Given the description of an element on the screen output the (x, y) to click on. 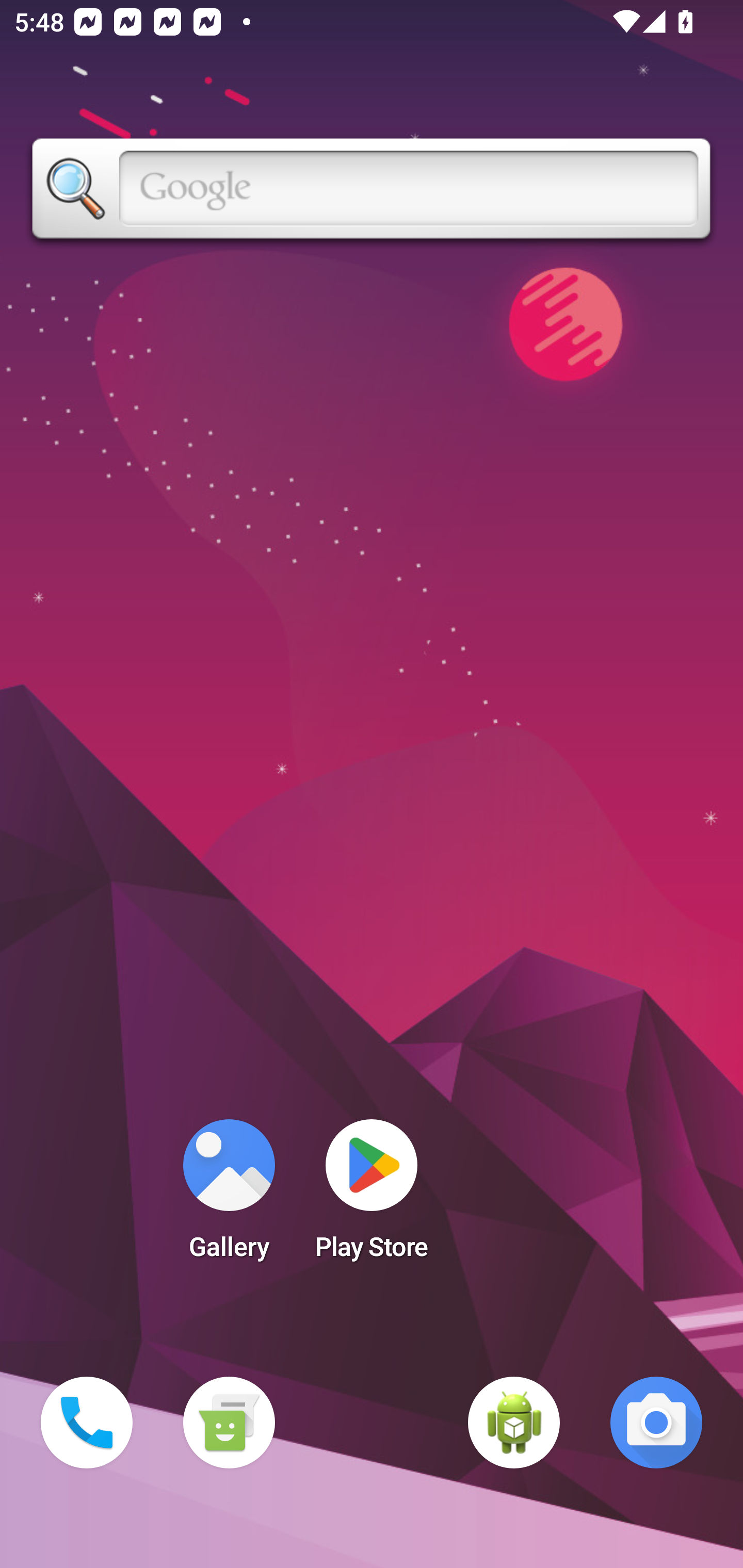
Gallery (228, 1195)
Play Store (371, 1195)
Phone (86, 1422)
Messaging (228, 1422)
WebView Browser Tester (513, 1422)
Camera (656, 1422)
